Given the description of an element on the screen output the (x, y) to click on. 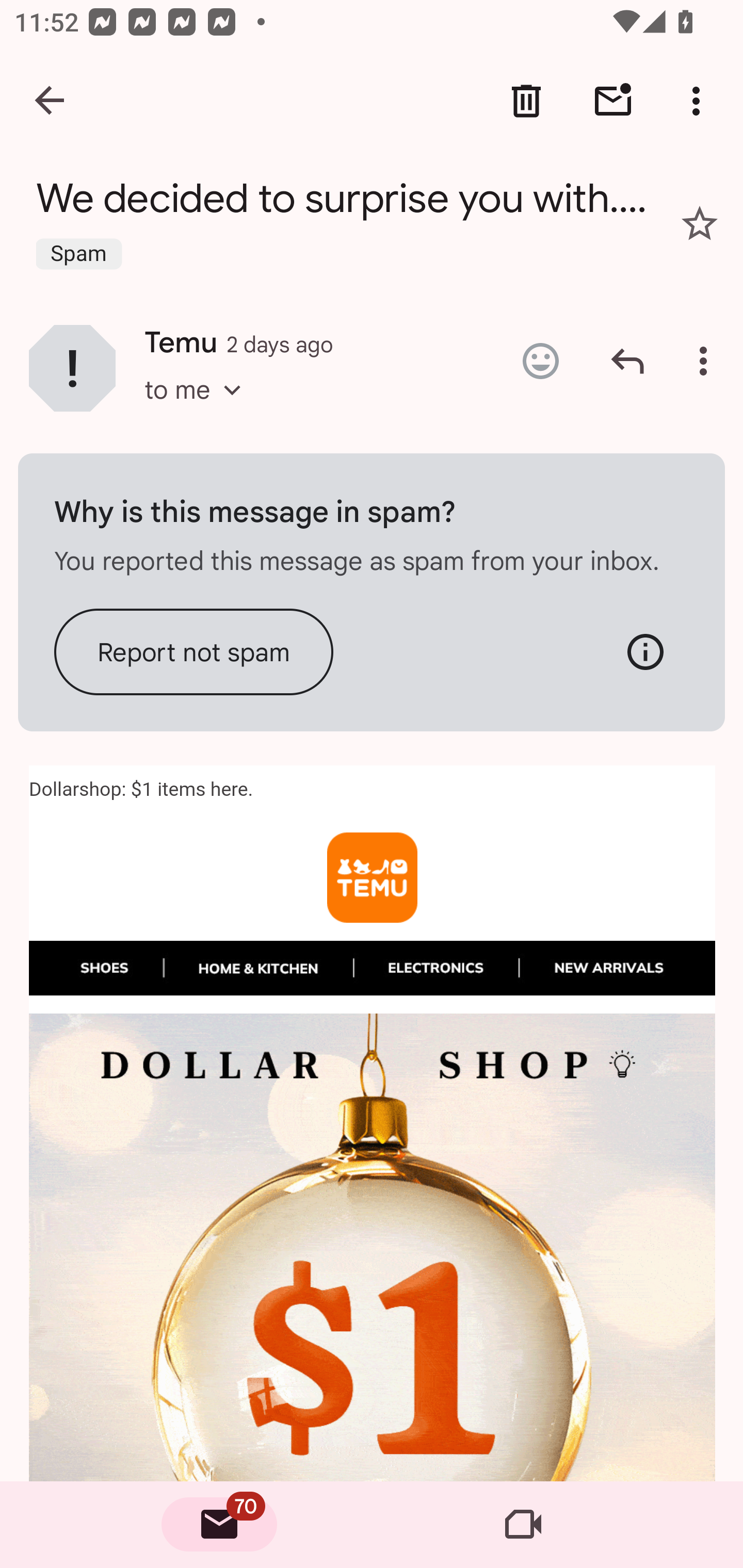
Navigate up (50, 101)
Delete (525, 101)
Mark unread (612, 101)
More options (699, 101)
Add star (699, 223)
Add emoji reaction (540, 361)
Reply (626, 361)
More options (706, 361)
Show contact information for Temu (71, 367)
to me (199, 408)
Report not spam (193, 651)
More information (644, 651)
Meet (523, 1524)
